Given the description of an element on the screen output the (x, y) to click on. 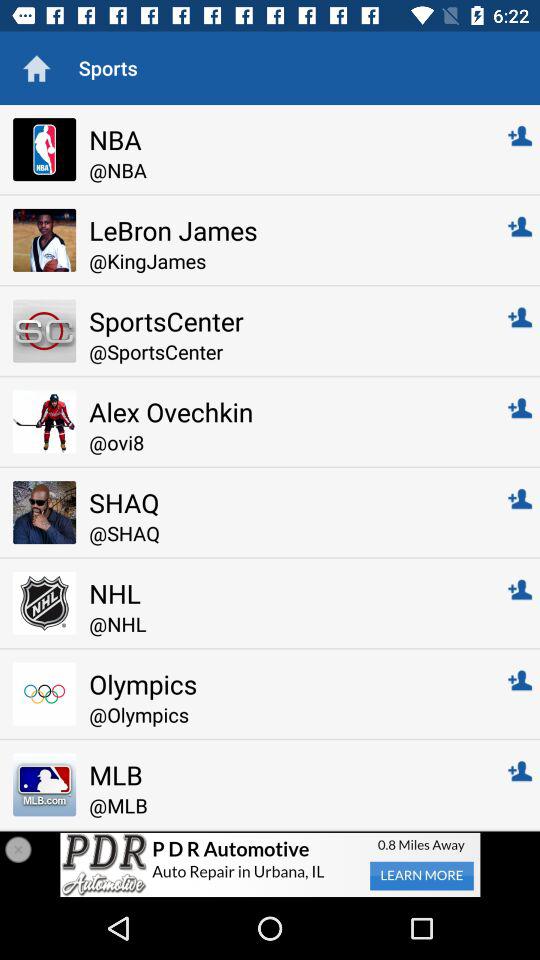
open lebron james item (284, 229)
